Given the description of an element on the screen output the (x, y) to click on. 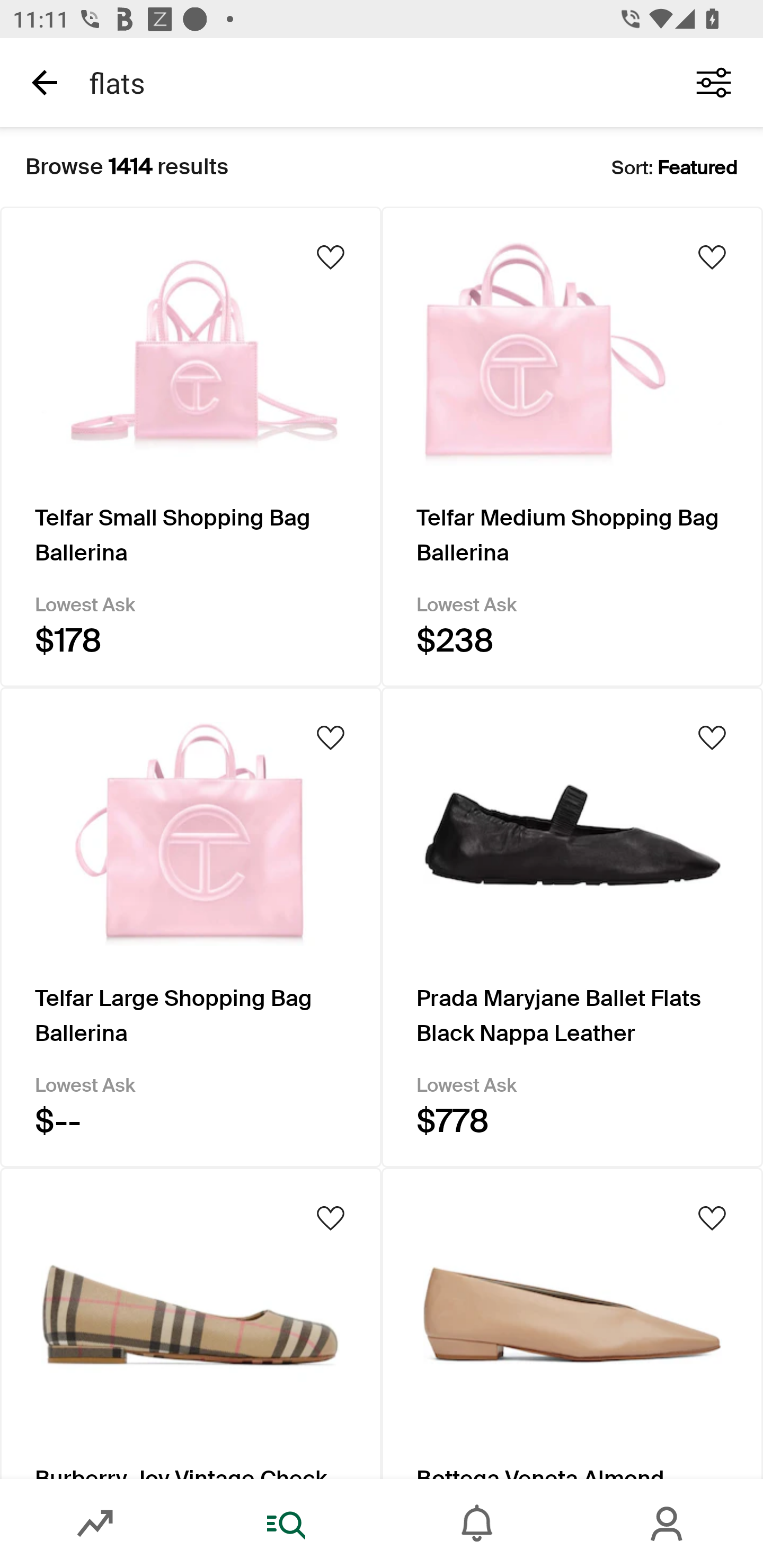
flats (370, 82)
Market (95, 1523)
Inbox (476, 1523)
Account (667, 1523)
